Given the description of an element on the screen output the (x, y) to click on. 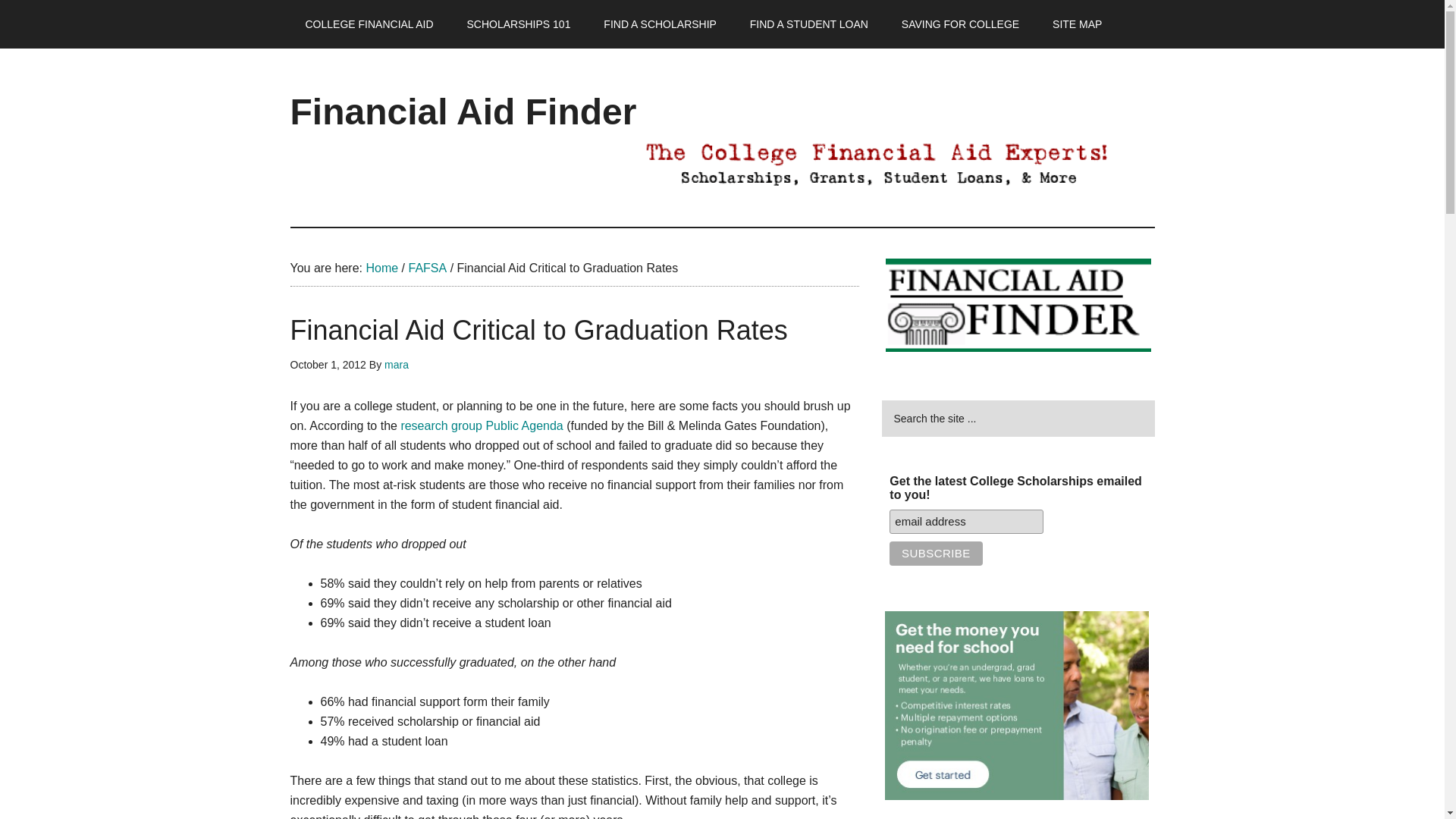
FIND A STUDENT LOAN (809, 24)
COLLEGE FINANCIAL AID (368, 24)
FIND A SCHOLARSHIP (660, 24)
Subscribe (935, 553)
SCHOLARSHIPS 101 (518, 24)
